Given the description of an element on the screen output the (x, y) to click on. 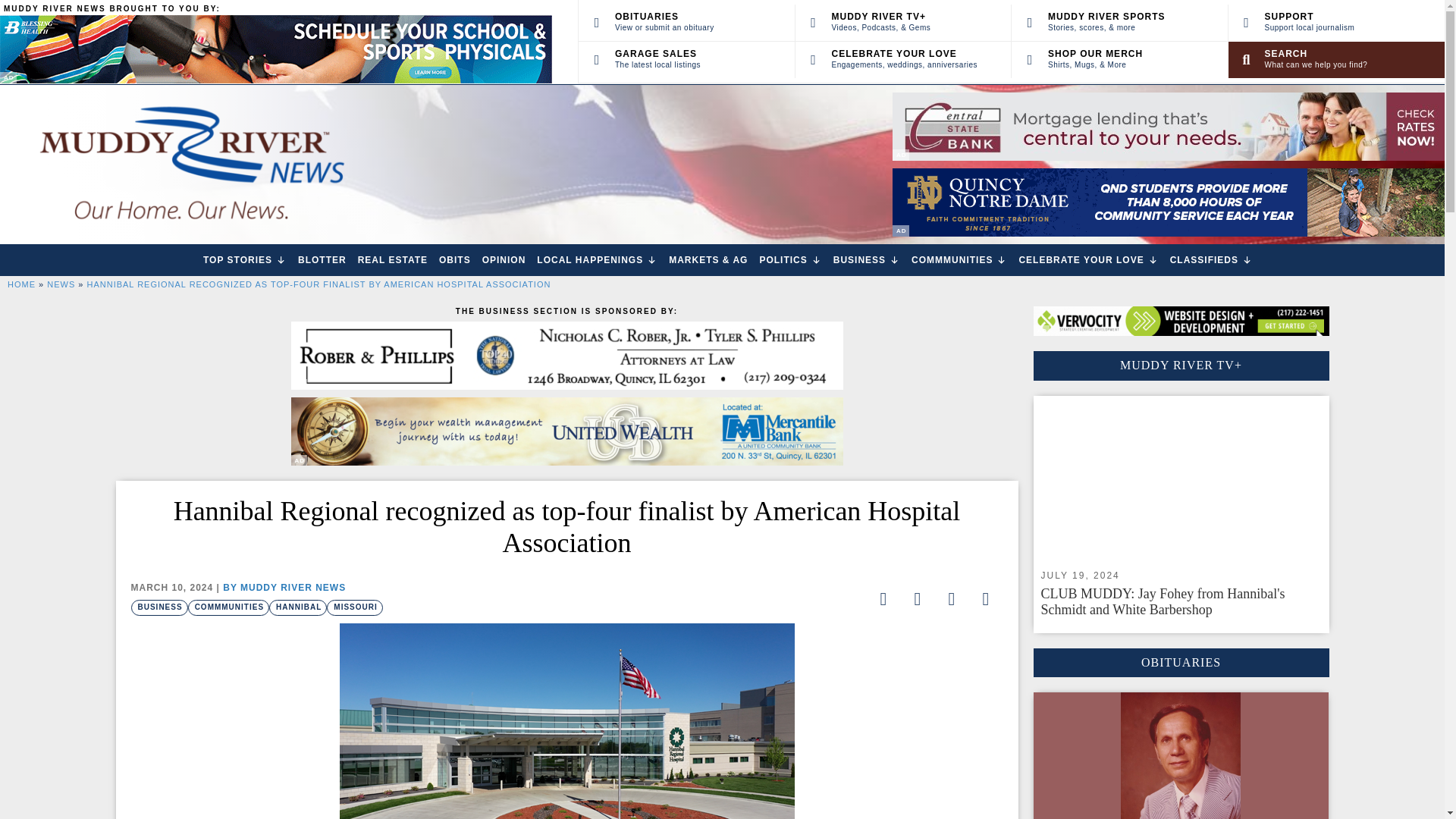
cropped-MRN-final-with-tag.png (189, 164)
Hannibal Regional Hospital (566, 721)
